Given the description of an element on the screen output the (x, y) to click on. 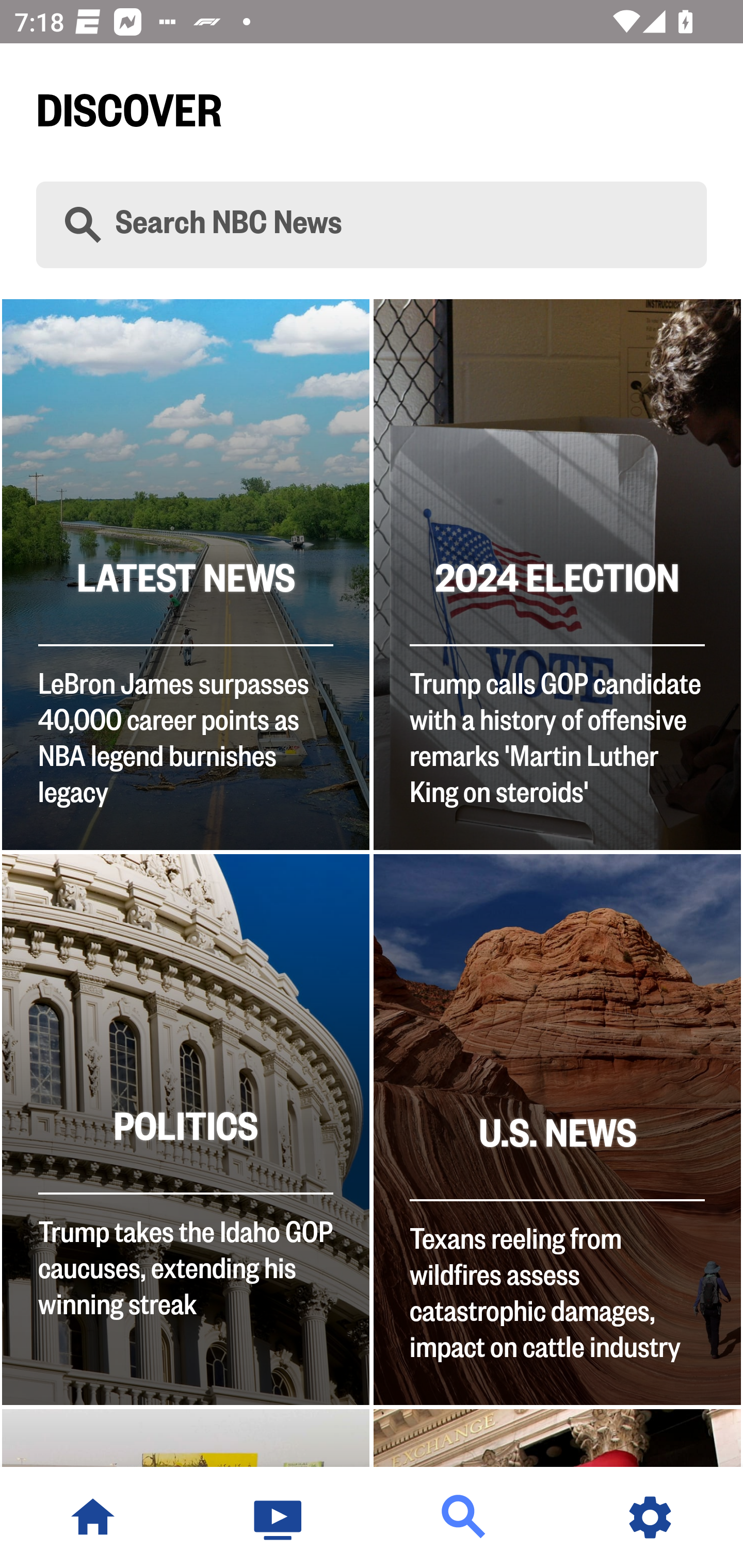
NBC News Home (92, 1517)
Watch (278, 1517)
Settings (650, 1517)
